Given the description of an element on the screen output the (x, y) to click on. 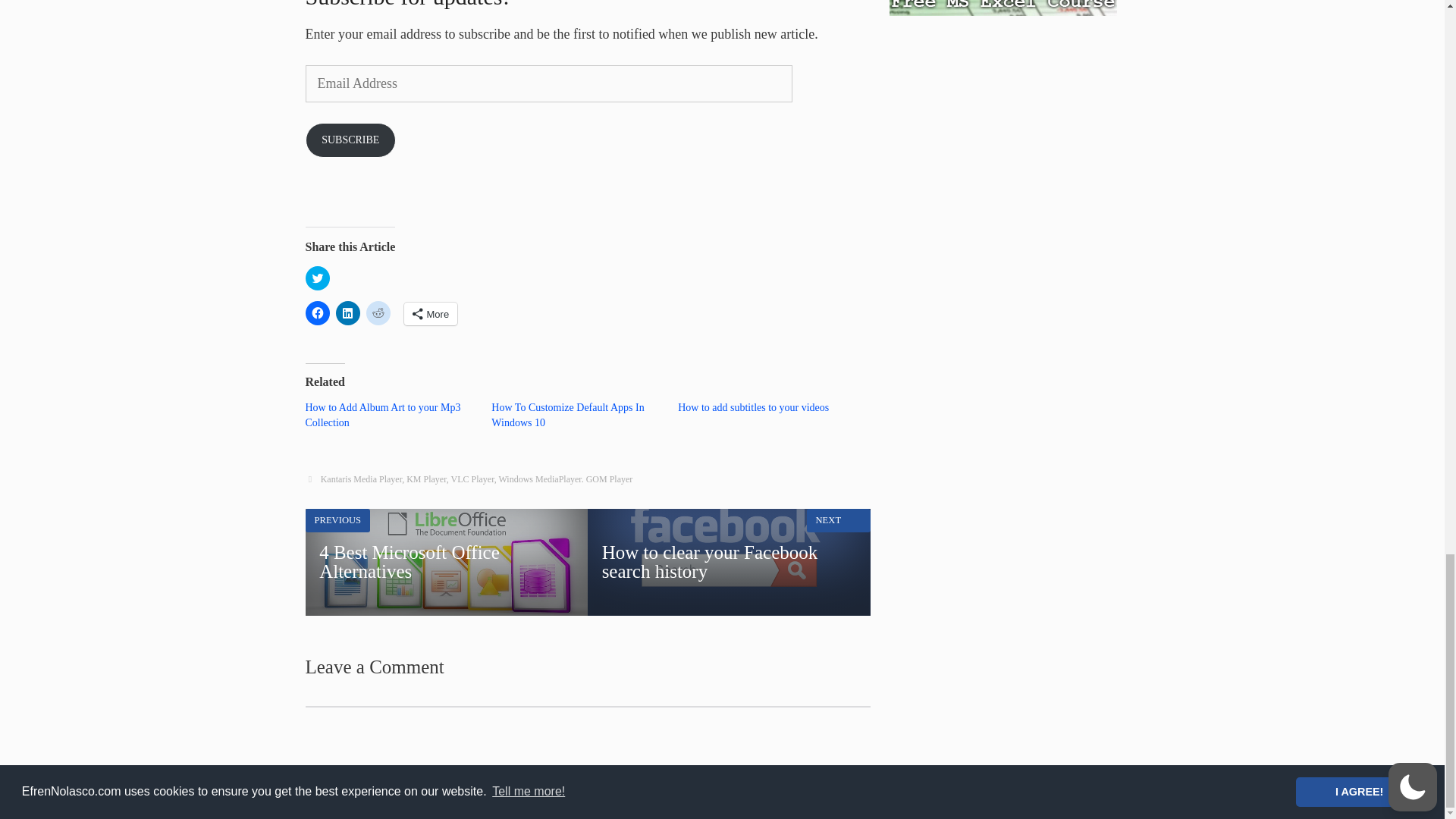
Click to share on Facebook (316, 313)
Kantaris Media Player (360, 479)
SUBSCRIBE (350, 140)
Click to share on Twitter (316, 278)
How To Customize Default Apps In Windows 10 (567, 415)
KM Player (426, 479)
Click to share on LinkedIn (346, 313)
More (430, 313)
Click to share on Reddit (377, 313)
How to add subtitles to your videos (753, 407)
How to Add Album Art to your Mp3 Collection (382, 415)
